Given the description of an element on the screen output the (x, y) to click on. 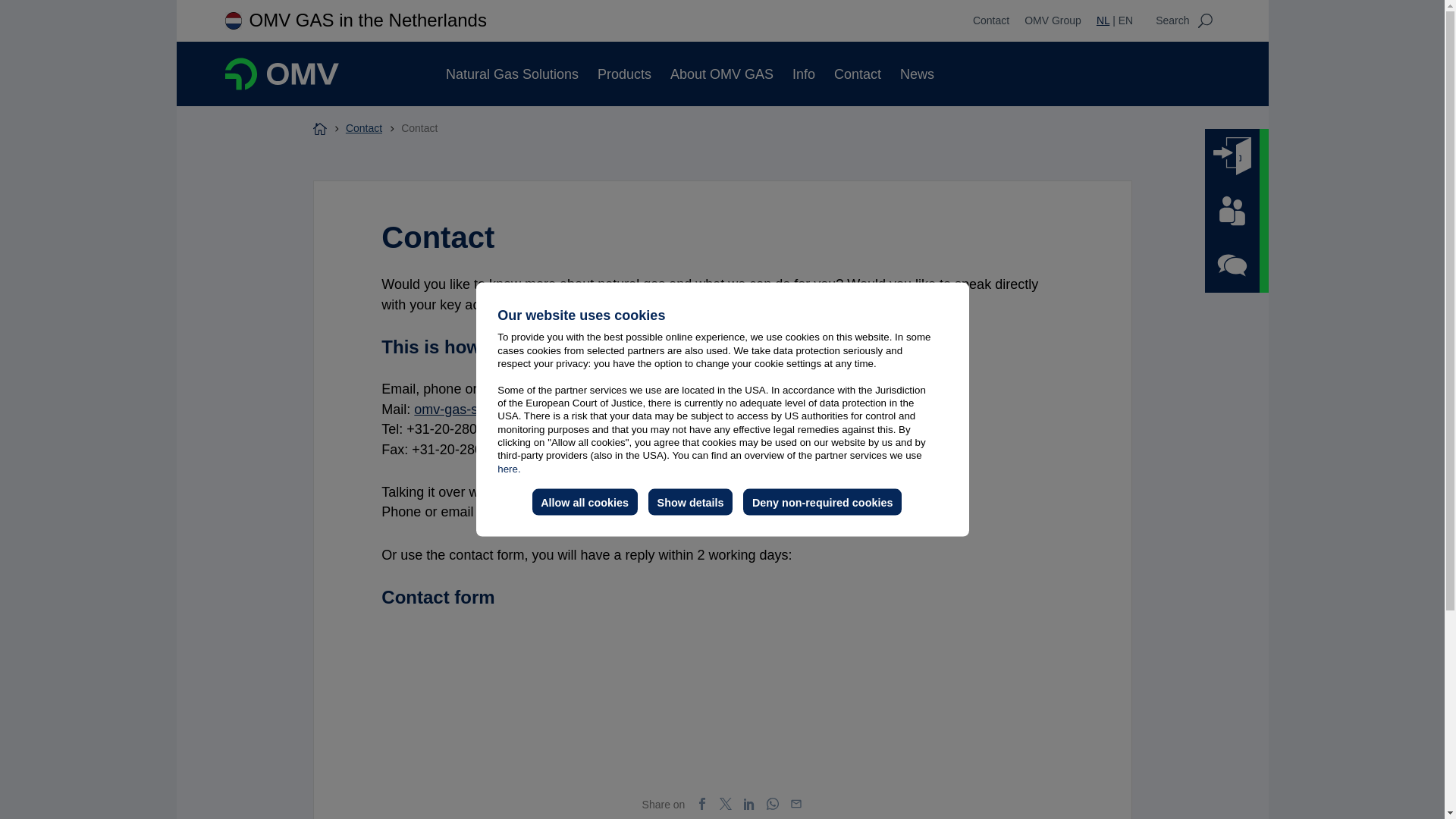
OMV Group (1053, 20)
Info (803, 74)
Allow all cookies (584, 501)
Contact (990, 20)
Deny non-required cookies (821, 501)
About OMV GAS (721, 74)
OMV GAS in the Netherlands (367, 20)
here. (508, 468)
Show details (689, 501)
here. (508, 468)
Natural Gas Solutions (511, 74)
Products (623, 74)
